Given the description of an element on the screen output the (x, y) to click on. 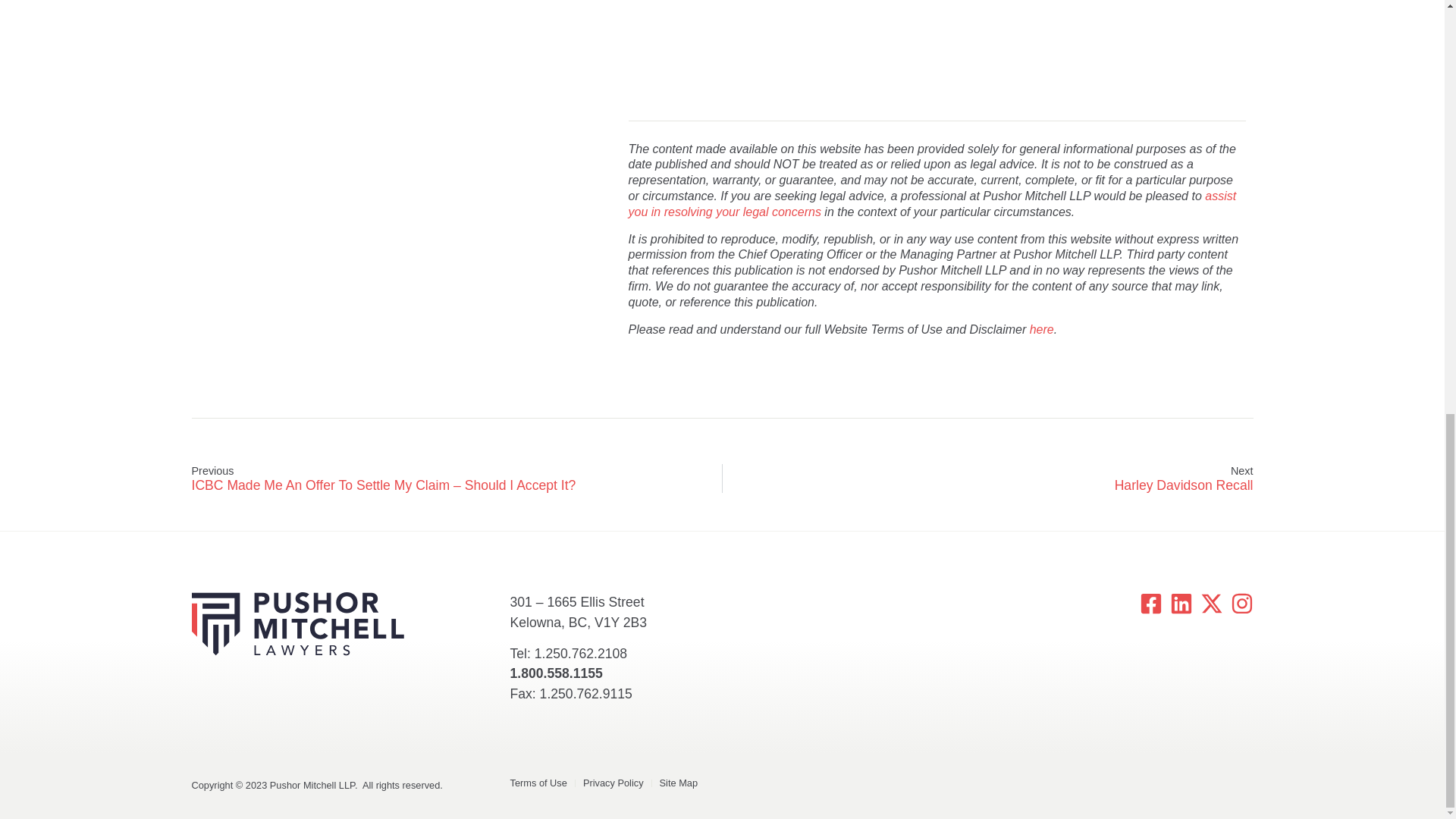
here (1041, 328)
assist you in resolving your legal concerns (932, 203)
